Given the description of an element on the screen output the (x, y) to click on. 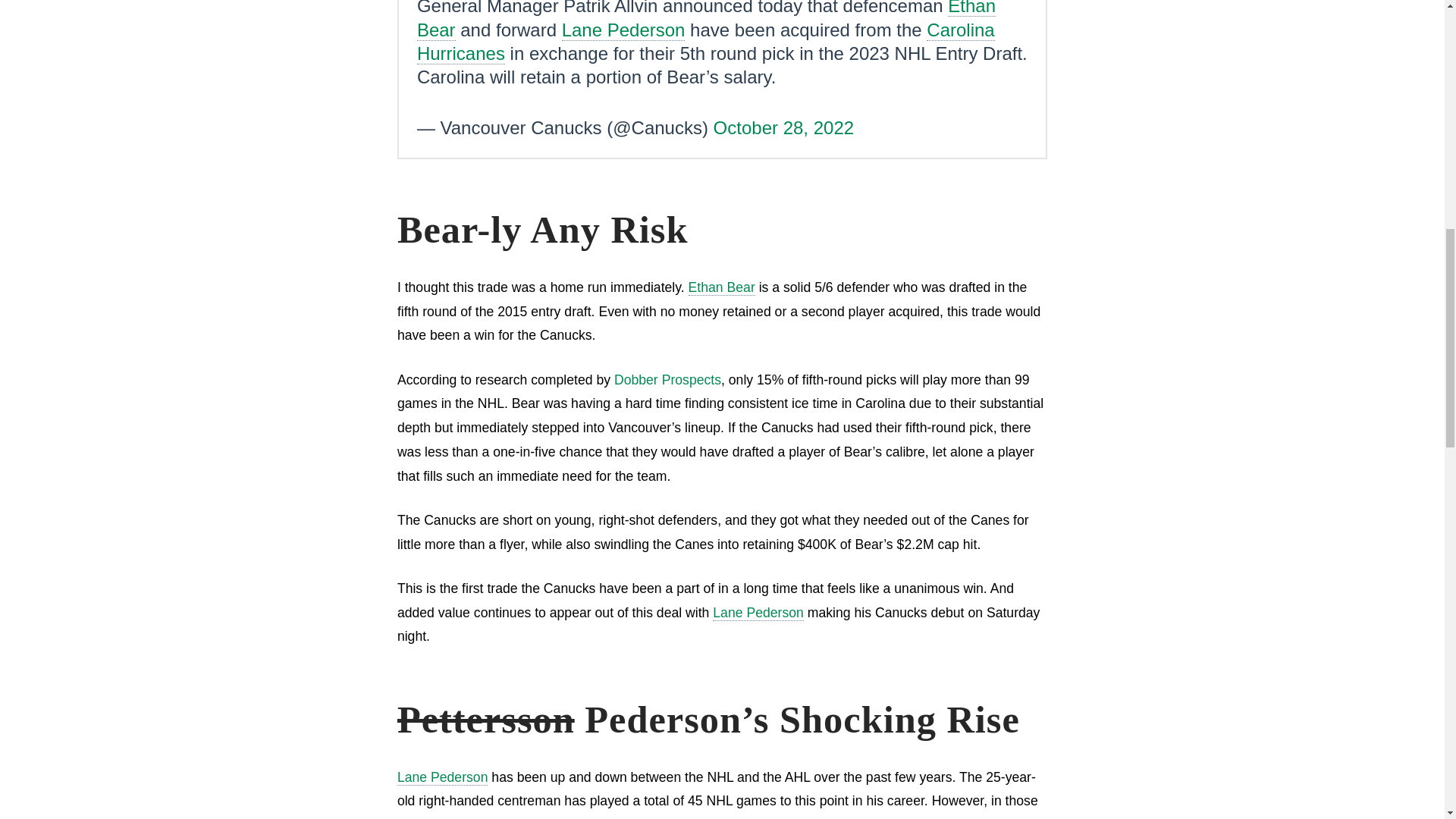
October 28, 2022 (783, 127)
Dobber Prospects (667, 379)
Ethan Bear (705, 20)
Ethan Bear (721, 287)
Lane Pederson (623, 29)
Lane Pederson (758, 612)
Lane Pederson (442, 777)
Carolina Hurricanes (705, 41)
